Given the description of an element on the screen output the (x, y) to click on. 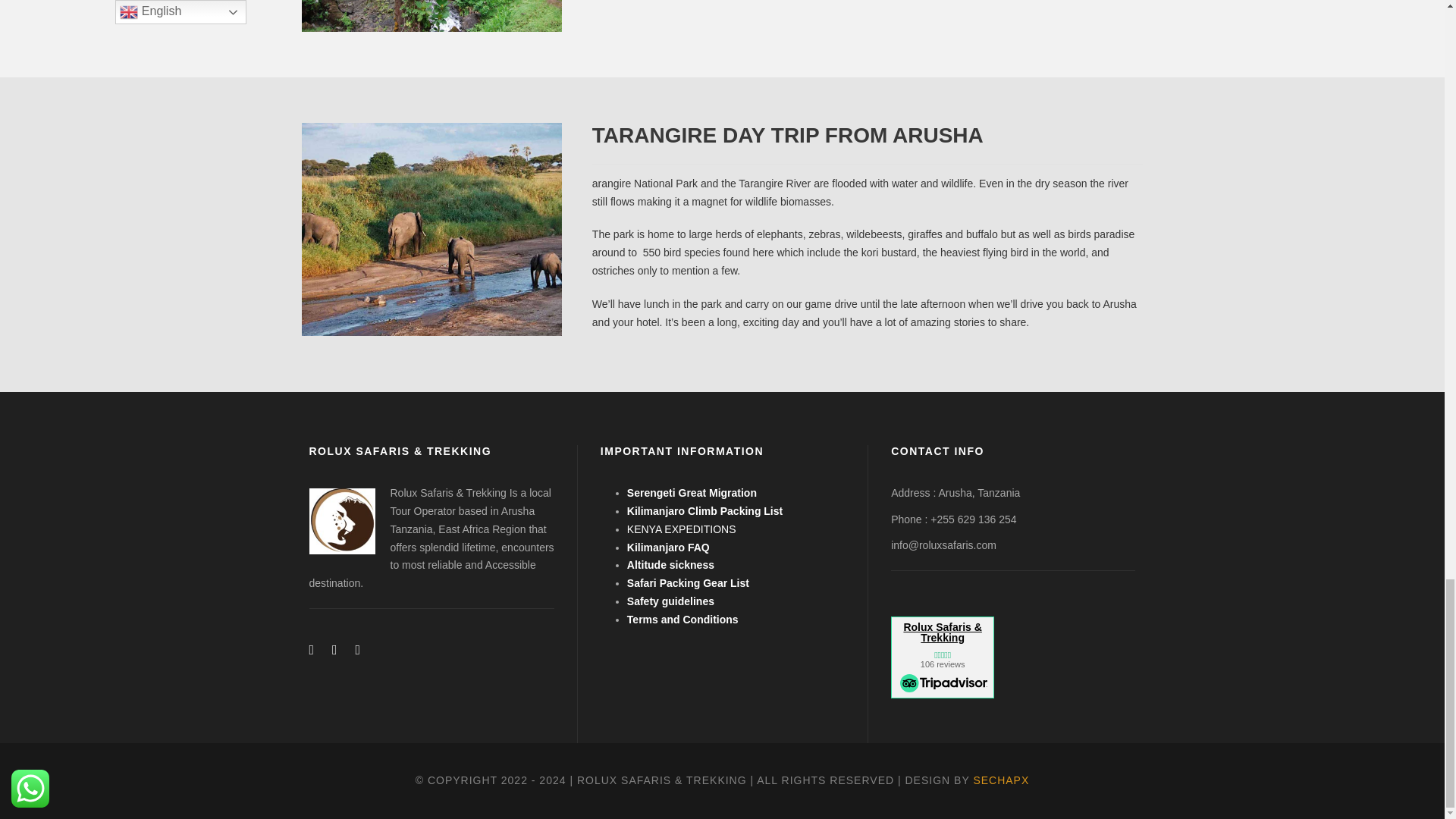
TARANGIRE-DAY-TOUR (431, 228)
MATERUNI-VILLAGE-AND-WATREFALL-DAYTRIP-TOUR (431, 15)
